Given the description of an element on the screen output the (x, y) to click on. 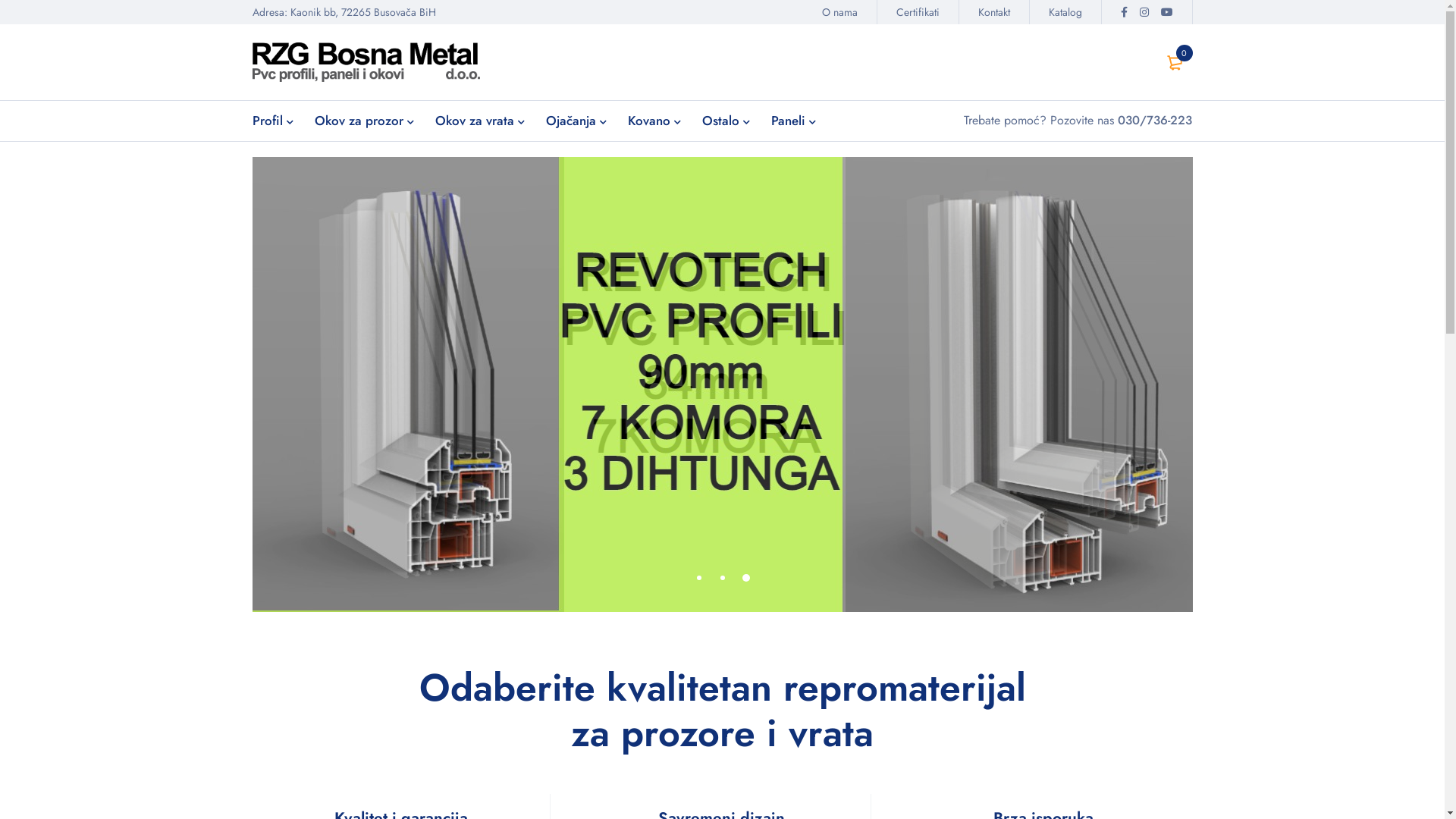
Kovano Element type: text (648, 120)
Ostalo Element type: text (720, 120)
Kontakt Element type: text (993, 11)
Okov za prozor Element type: text (357, 120)
0 Element type: text (1174, 61)
Katalog Element type: text (1065, 11)
O nama Element type: text (838, 11)
Paneli Element type: text (787, 120)
Okov za vrata Element type: text (474, 120)
Profil Element type: text (266, 120)
RZG Bosna Metal Element type: hover (365, 62)
Certifikati Element type: text (916, 11)
